Given the description of an element on the screen output the (x, y) to click on. 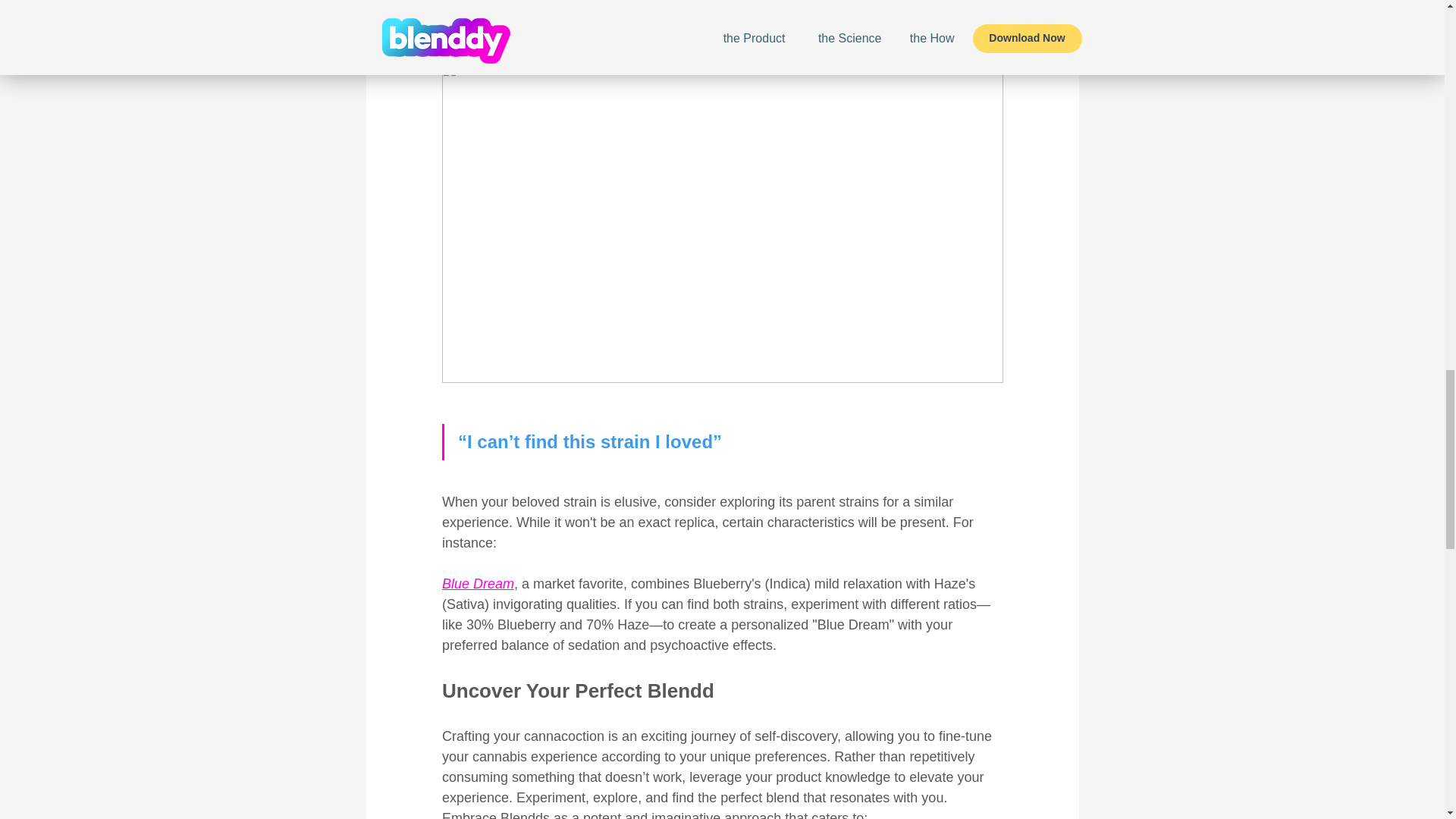
Blue Dream (477, 583)
